Given the description of an element on the screen output the (x, y) to click on. 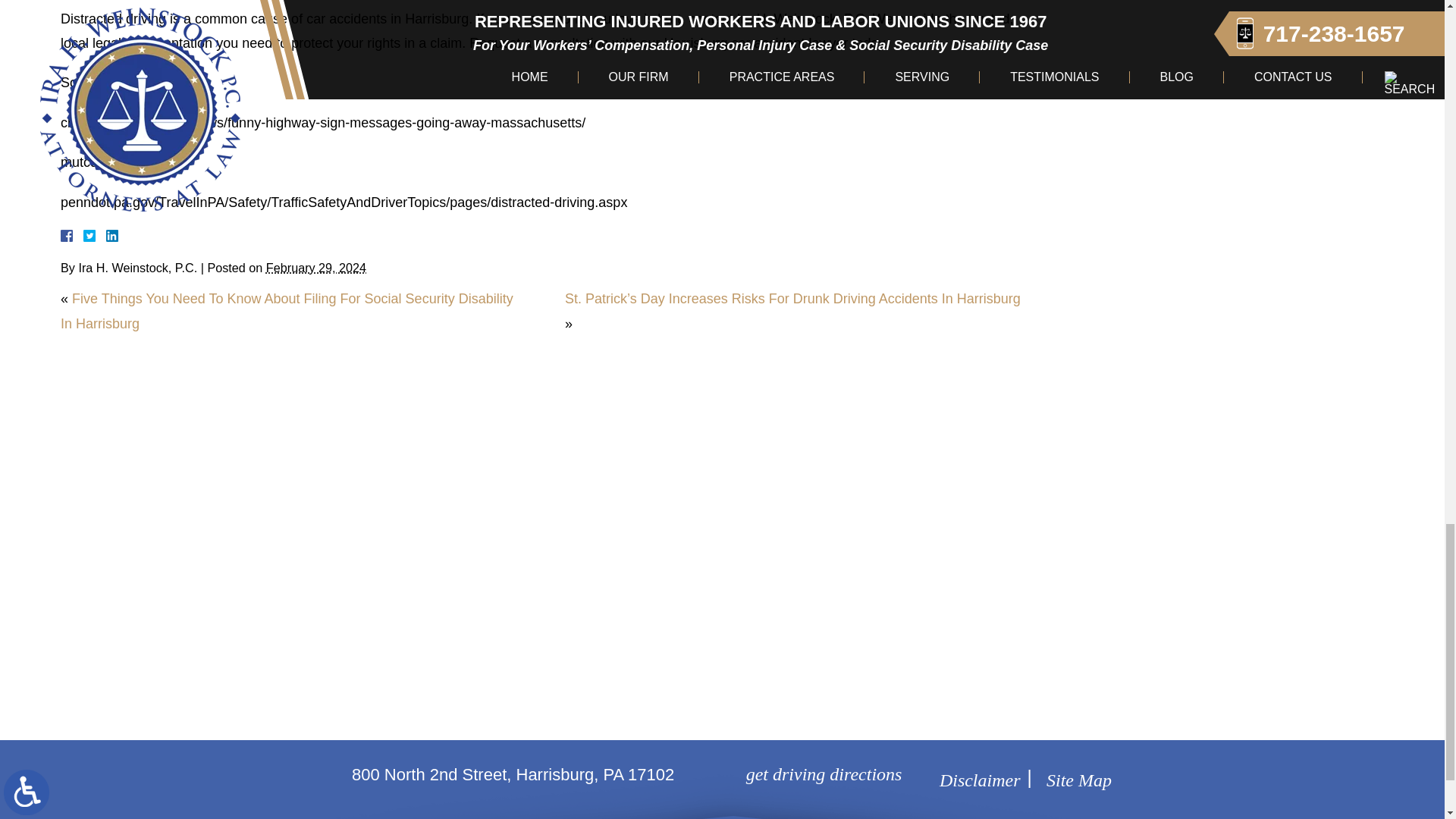
Twitter (95, 235)
LinkedIn (106, 235)
Facebook (85, 235)
2024-02-29T06:31:42-0800 (316, 267)
